Given the description of an element on the screen output the (x, y) to click on. 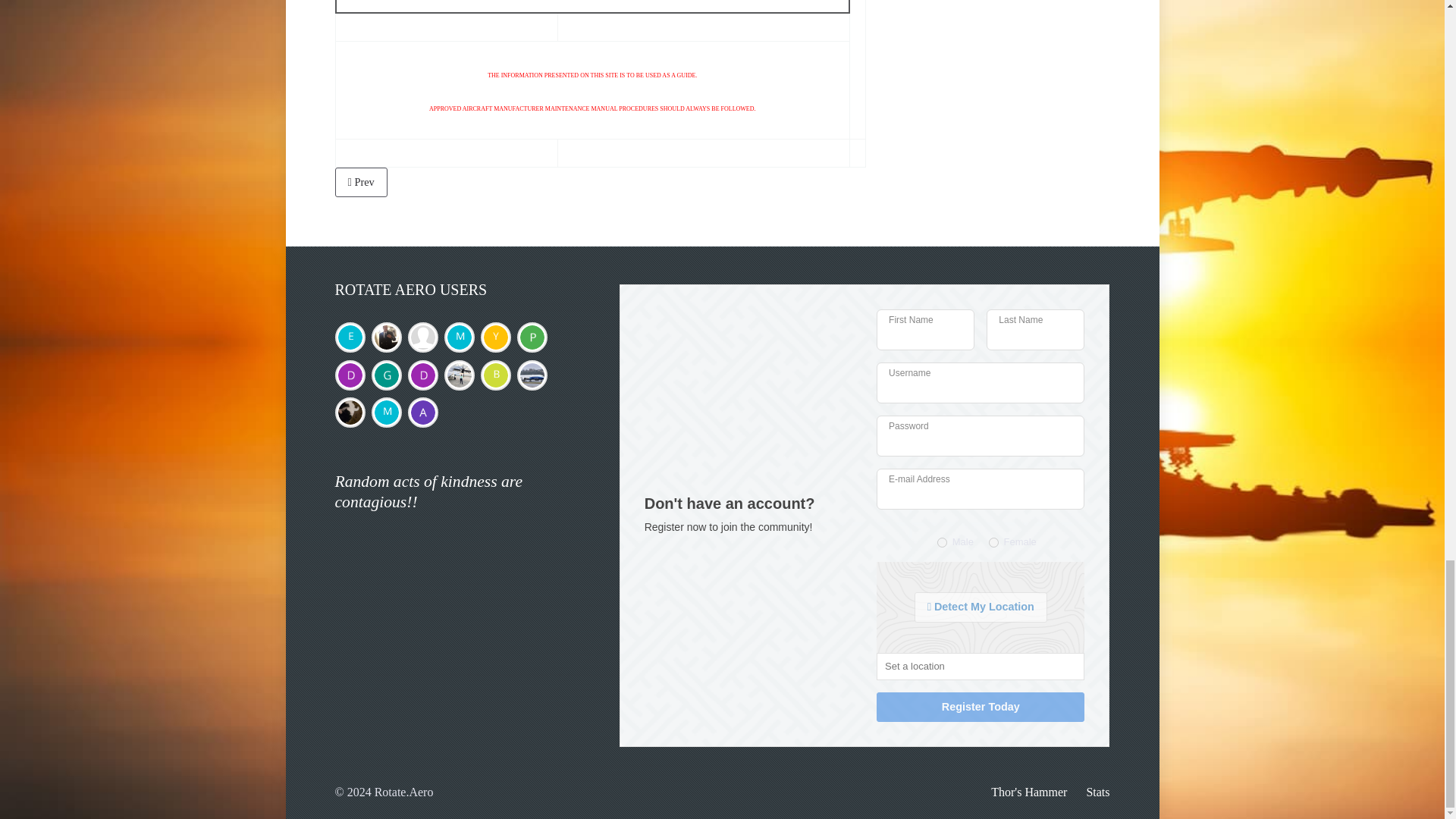
2 (993, 542)
1 (942, 542)
